Given the description of an element on the screen output the (x, y) to click on. 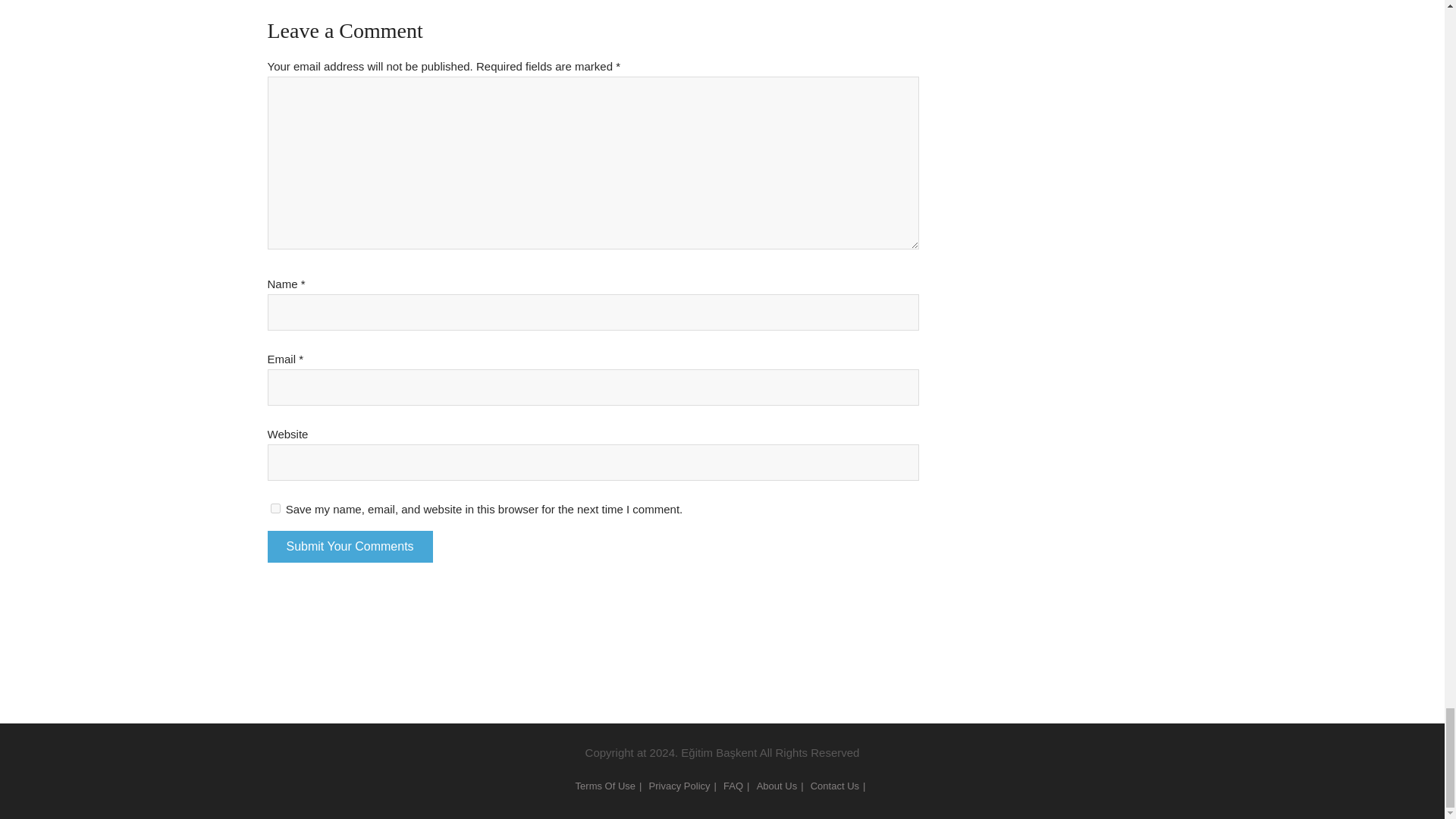
Submit Your Comments (349, 546)
yes (274, 508)
Submit Your Comments (349, 546)
